Given the description of an element on the screen output the (x, y) to click on. 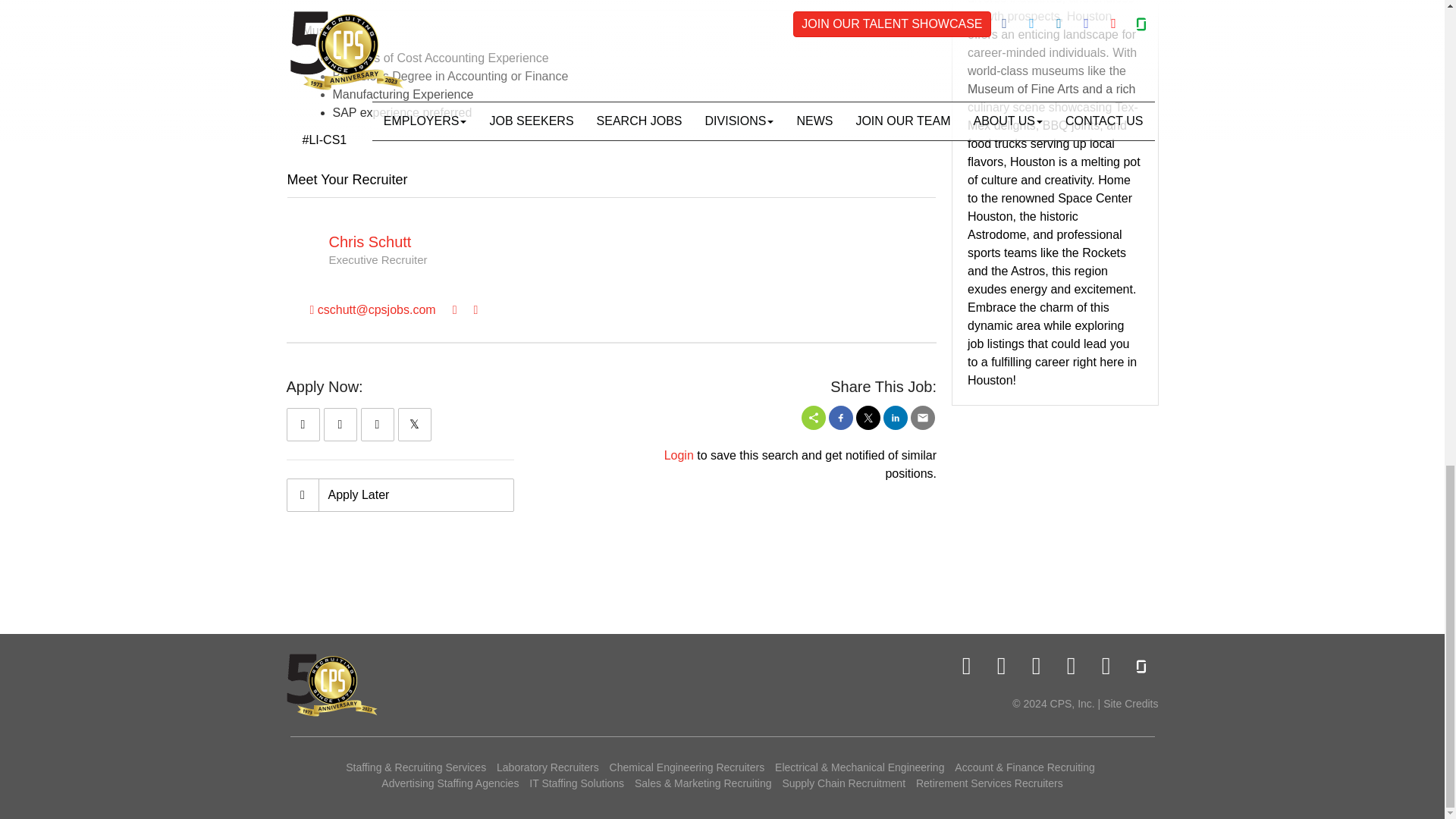
click to email (371, 309)
social Sharethis (813, 417)
social Email (922, 417)
social Facebook (840, 417)
social Linkedin (895, 417)
social Twitter (868, 417)
